Given the description of an element on the screen output the (x, y) to click on. 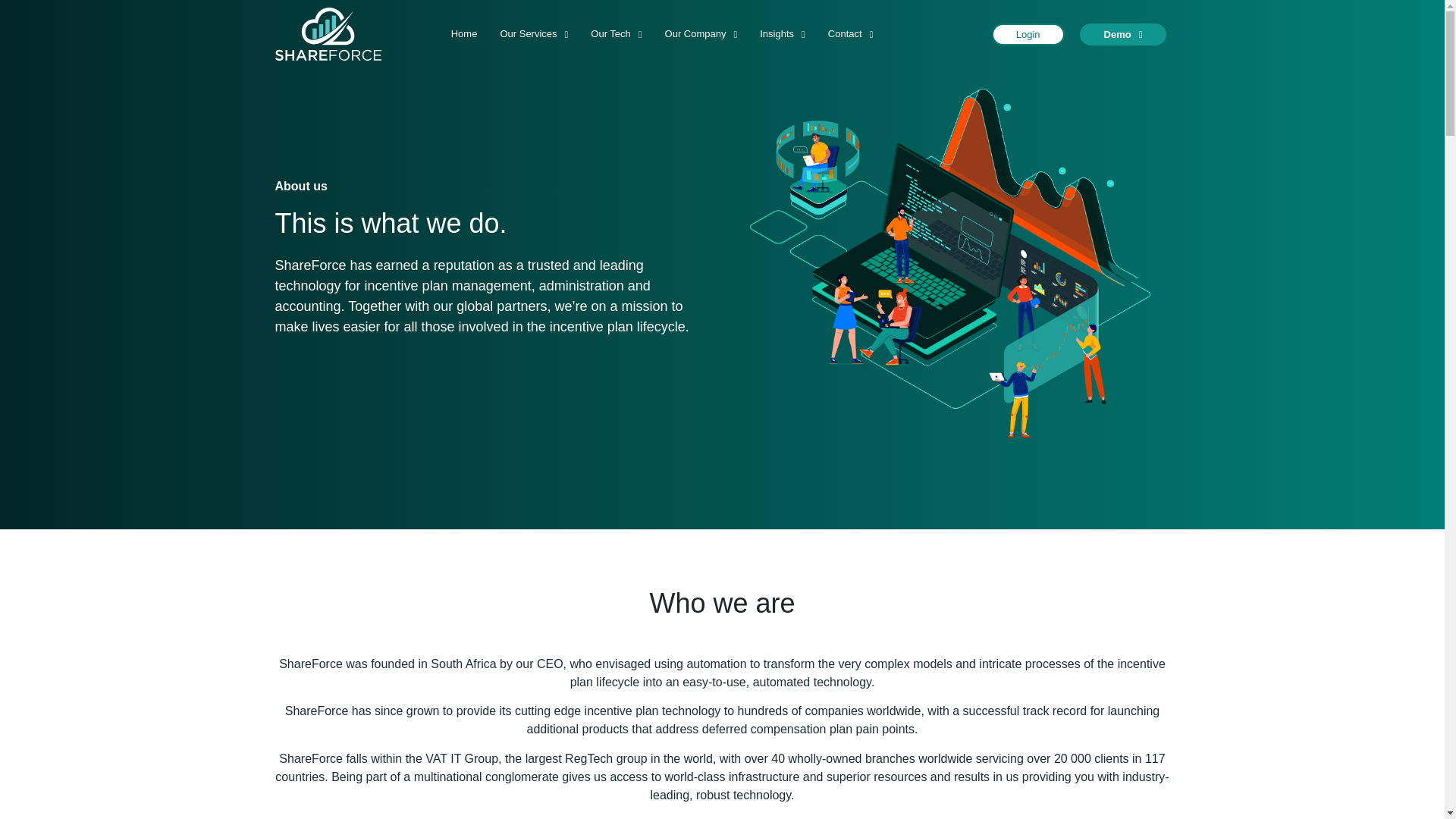
Our Services (533, 33)
Contact (850, 33)
Our Tech (615, 33)
Demo (1123, 33)
Our Company (701, 33)
Insights (782, 33)
Home (464, 33)
Login (1027, 33)
